Given the description of an element on the screen output the (x, y) to click on. 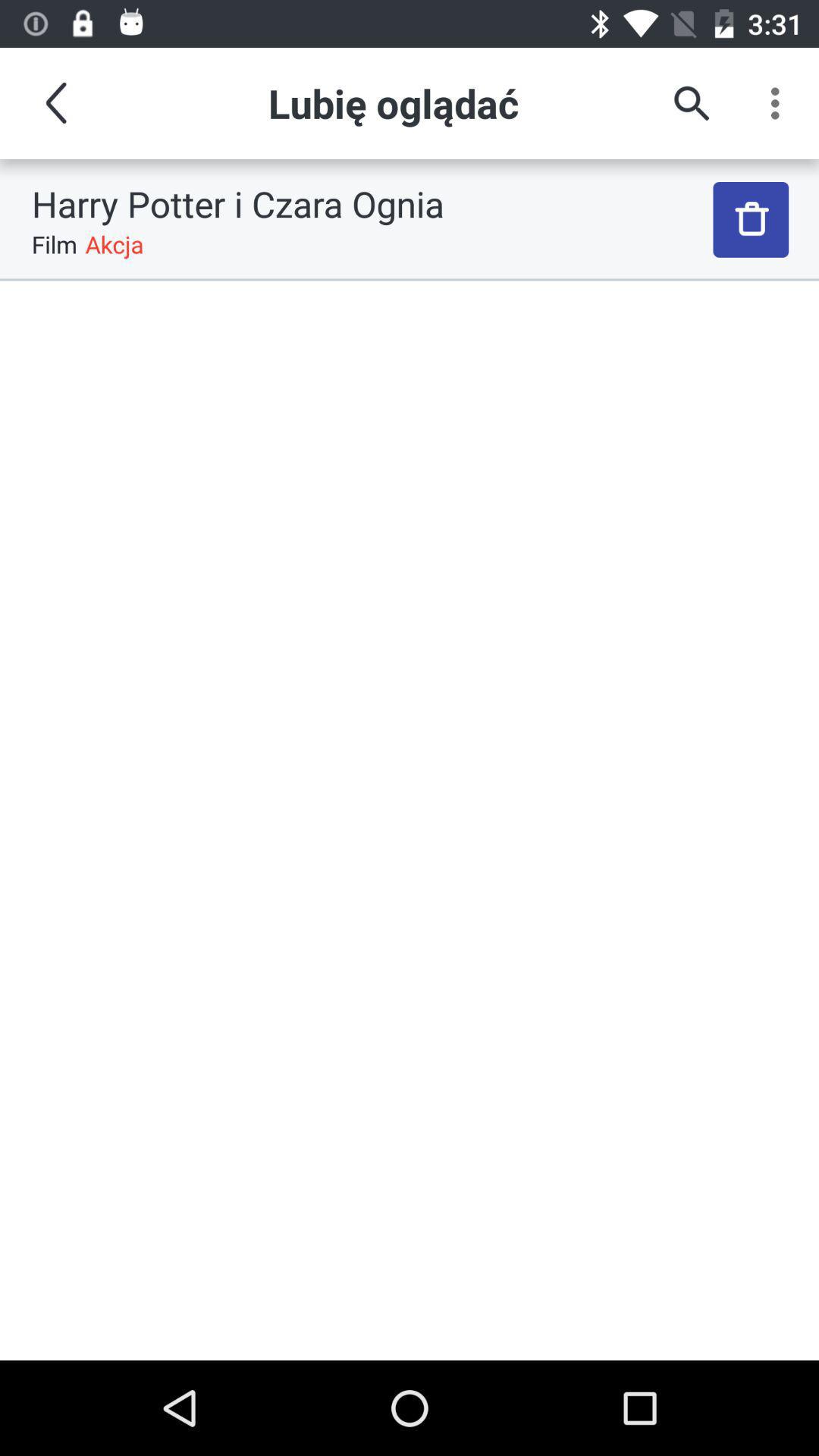
tap the icon to the right of the harry potter i item (750, 219)
